Given the description of an element on the screen output the (x, y) to click on. 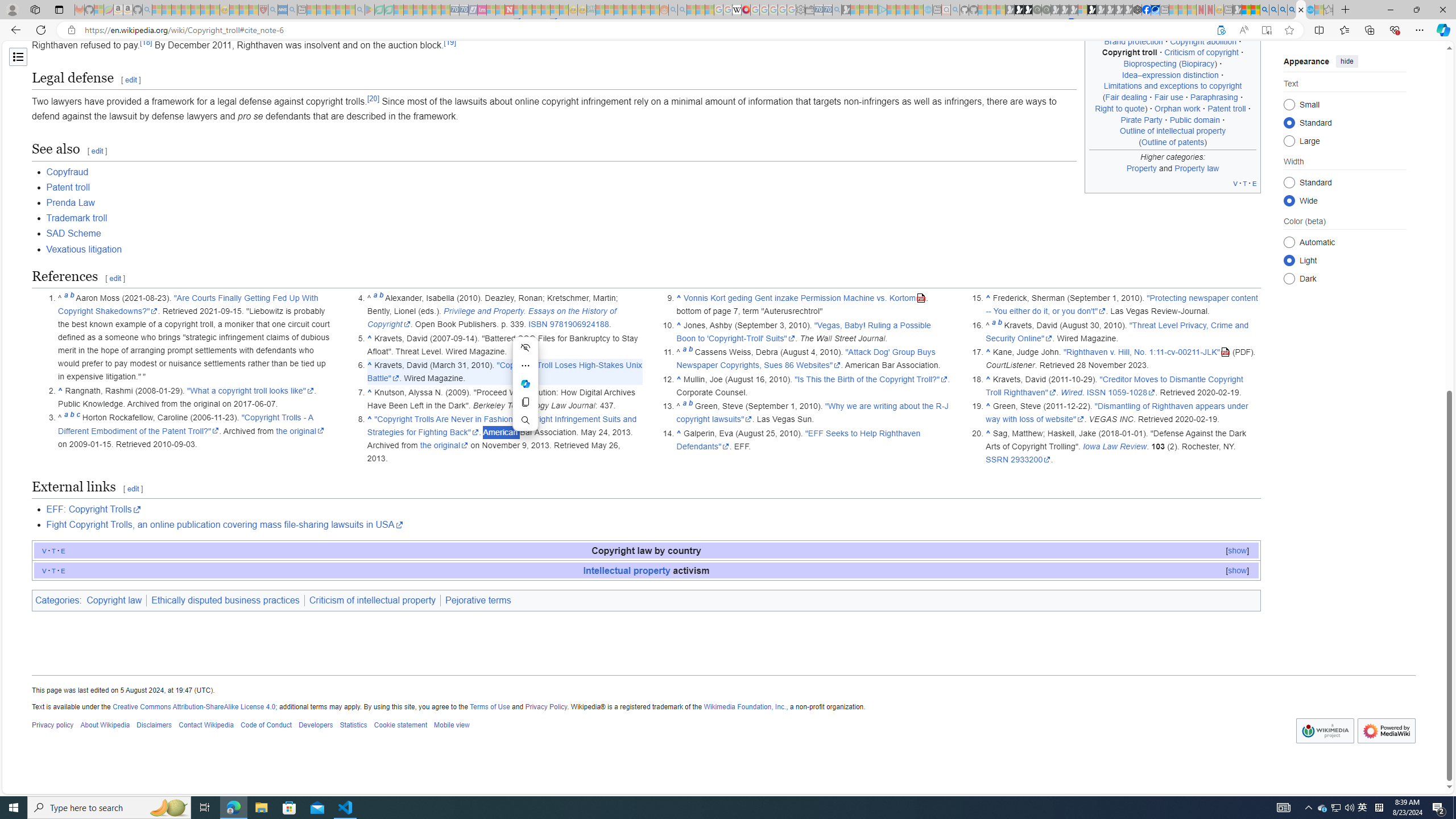
b (999, 325)
"Why we are writing about the R-J copyright lawsuits" (812, 412)
Copyright troll - Wikipedia (1300, 9)
Wikimedia Foundation (1324, 730)
New Report Confirms 2023 Was Record Hot | Watch - Sleeping (195, 9)
Jump up to: a (993, 325)
[18] (145, 41)
Support Wikipedia? (1220, 29)
Powered by MediaWiki (1385, 730)
